Given the description of an element on the screen output the (x, y) to click on. 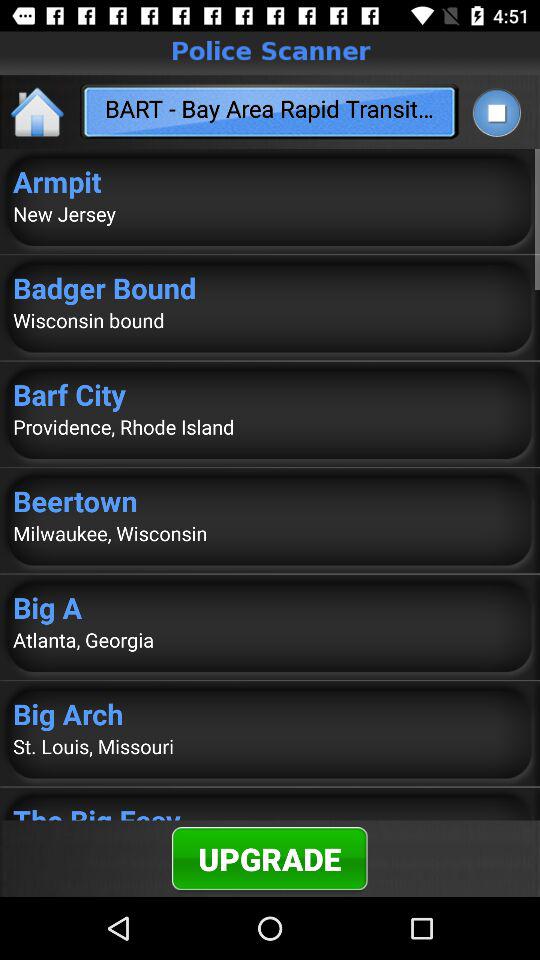
stop play (496, 111)
